Given the description of an element on the screen output the (x, y) to click on. 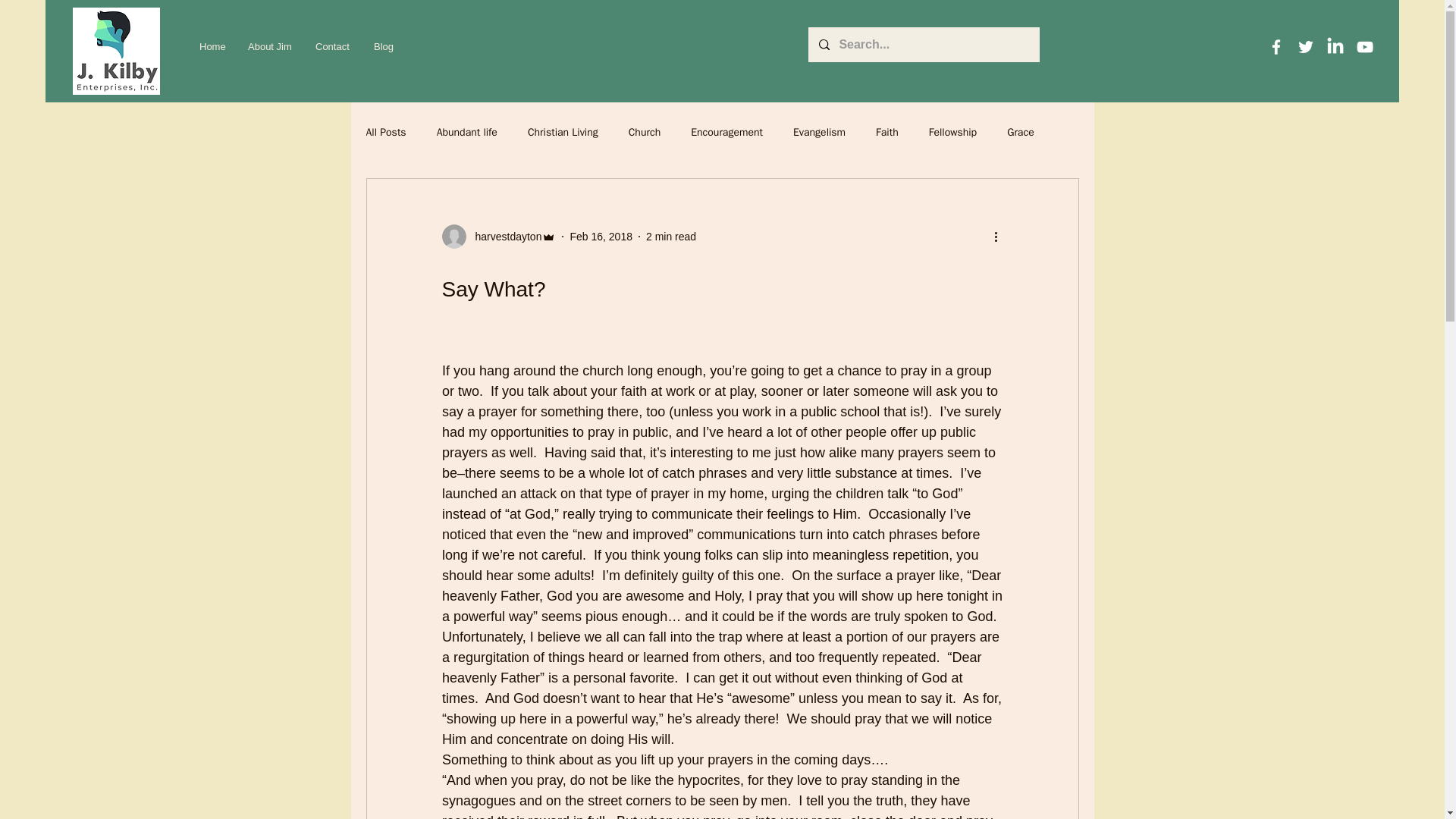
Blog (383, 46)
Home (211, 46)
Feb 16, 2018 (600, 236)
Encouragement (726, 132)
harvestdayton (503, 236)
2 min read (670, 236)
Evangelism (819, 132)
Church (644, 132)
Abundant life (466, 132)
Fellowship (952, 132)
Grace (1020, 132)
Faith (887, 132)
harvestdayton (498, 236)
About Jim (269, 46)
Contact (333, 46)
